Given the description of an element on the screen output the (x, y) to click on. 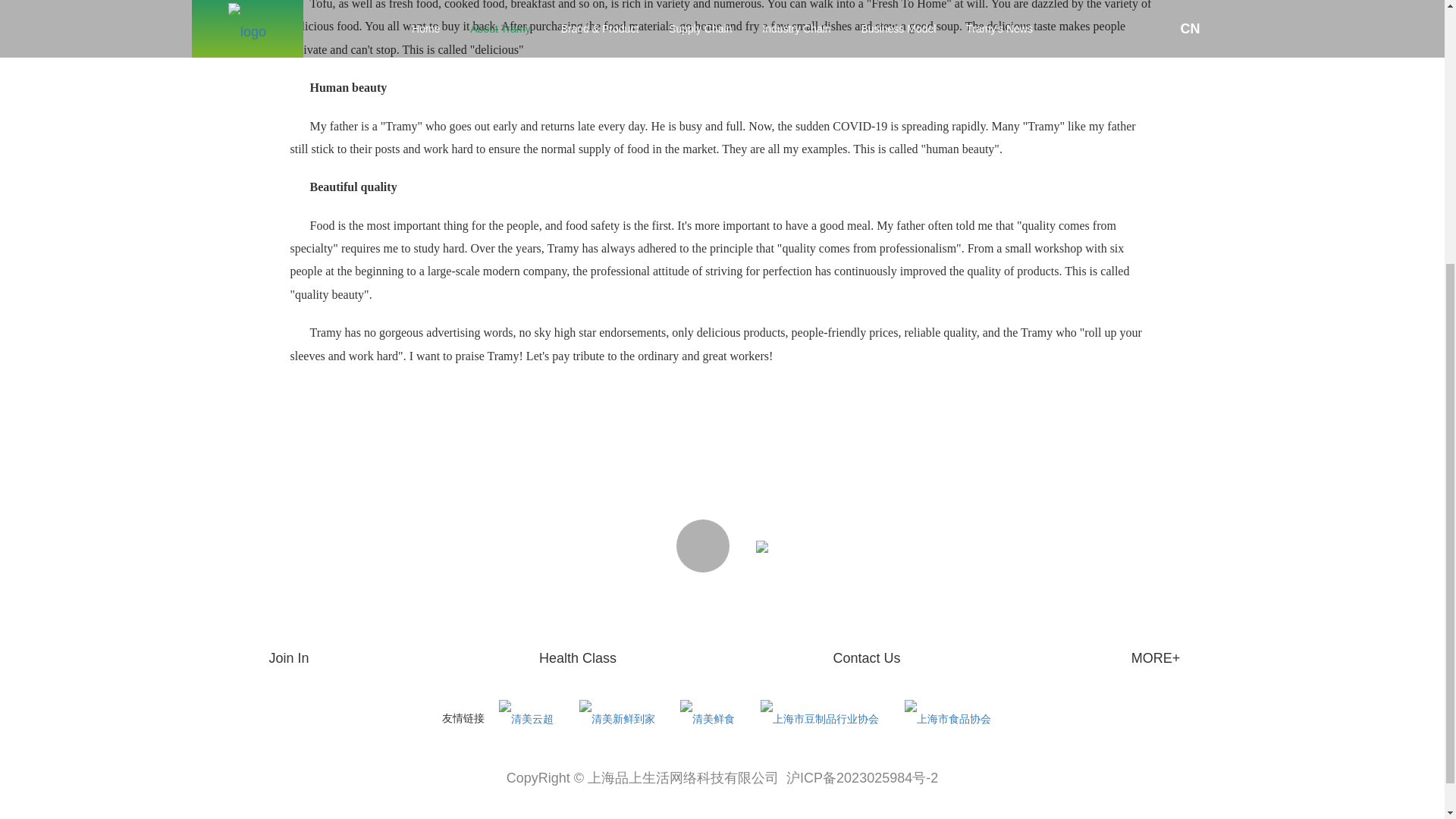
Contact Us (865, 658)
Health Class (576, 658)
Join In (287, 658)
